Given the description of an element on the screen output the (x, y) to click on. 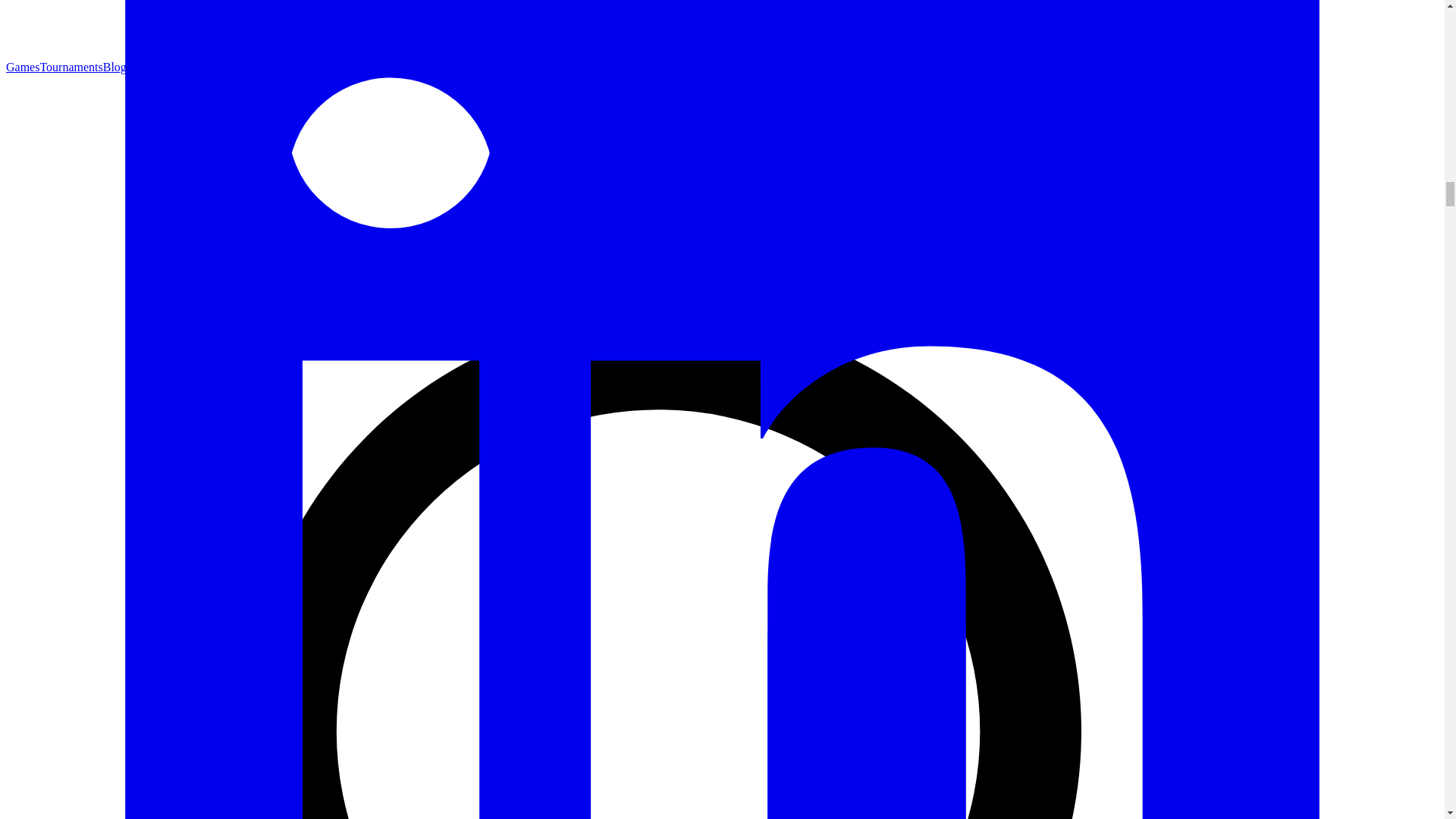
Blog (114, 66)
Games (22, 66)
Tournaments (70, 66)
